Given the description of an element on the screen output the (x, y) to click on. 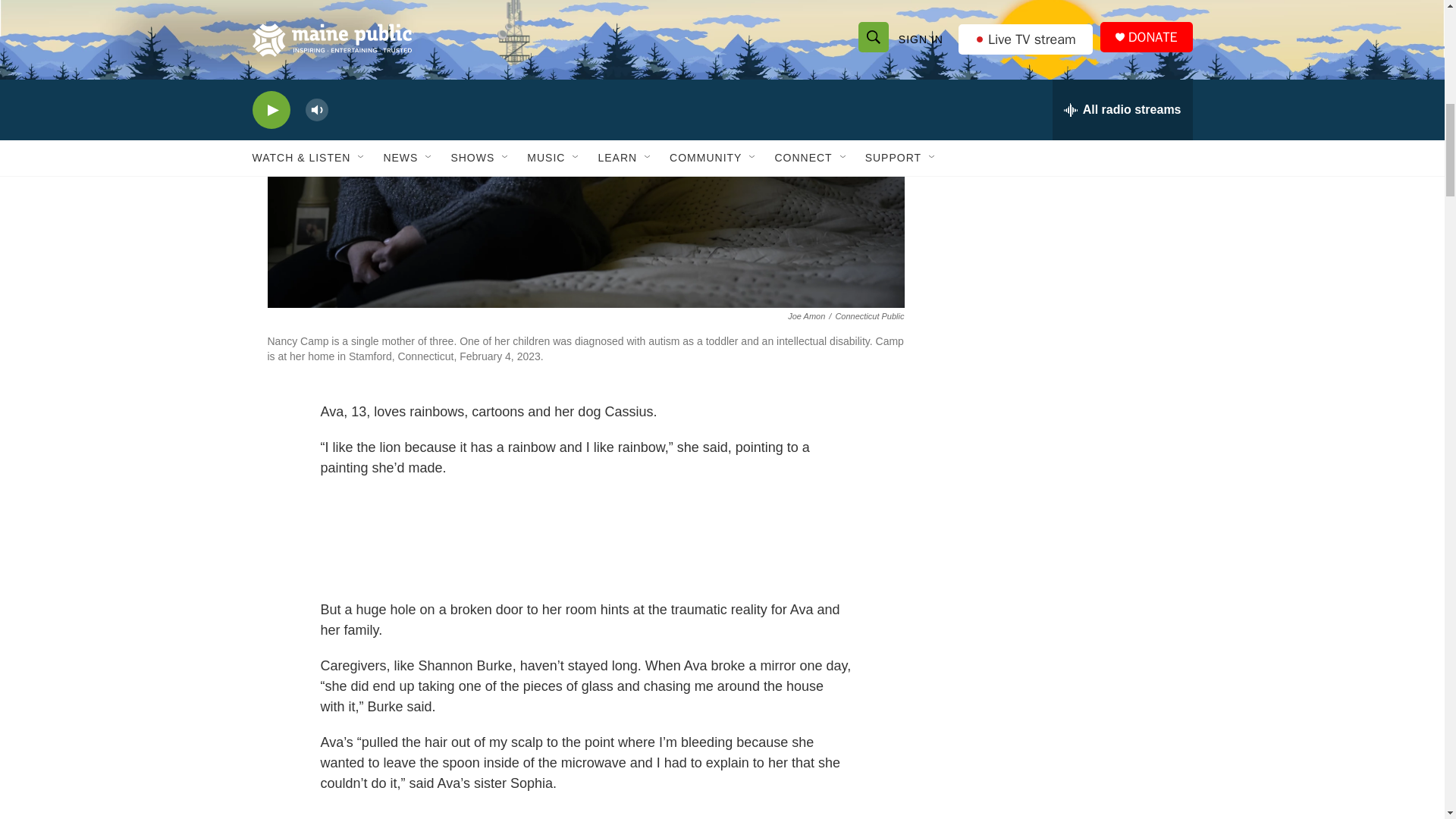
3rd party ad content (584, 538)
3rd party ad content (1062, 321)
3rd party ad content (1062, 102)
